Given the description of an element on the screen output the (x, y) to click on. 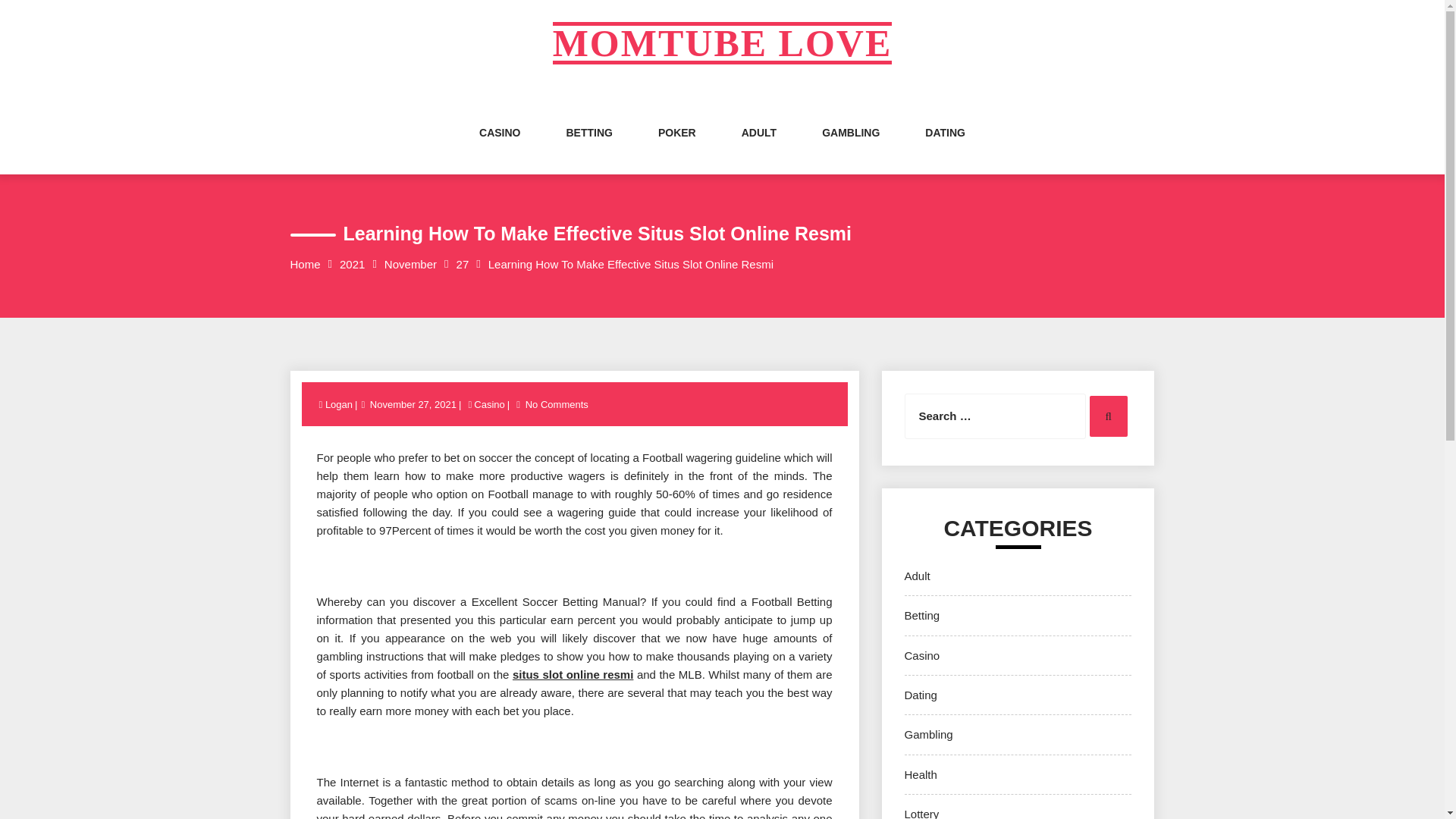
Gambling (928, 734)
Lottery (921, 813)
27 (462, 264)
2021 (352, 264)
Home (304, 264)
Logan (339, 404)
GAMBLING (850, 147)
No Comments (556, 404)
Adult (917, 575)
Dating (920, 694)
